Given the description of an element on the screen output the (x, y) to click on. 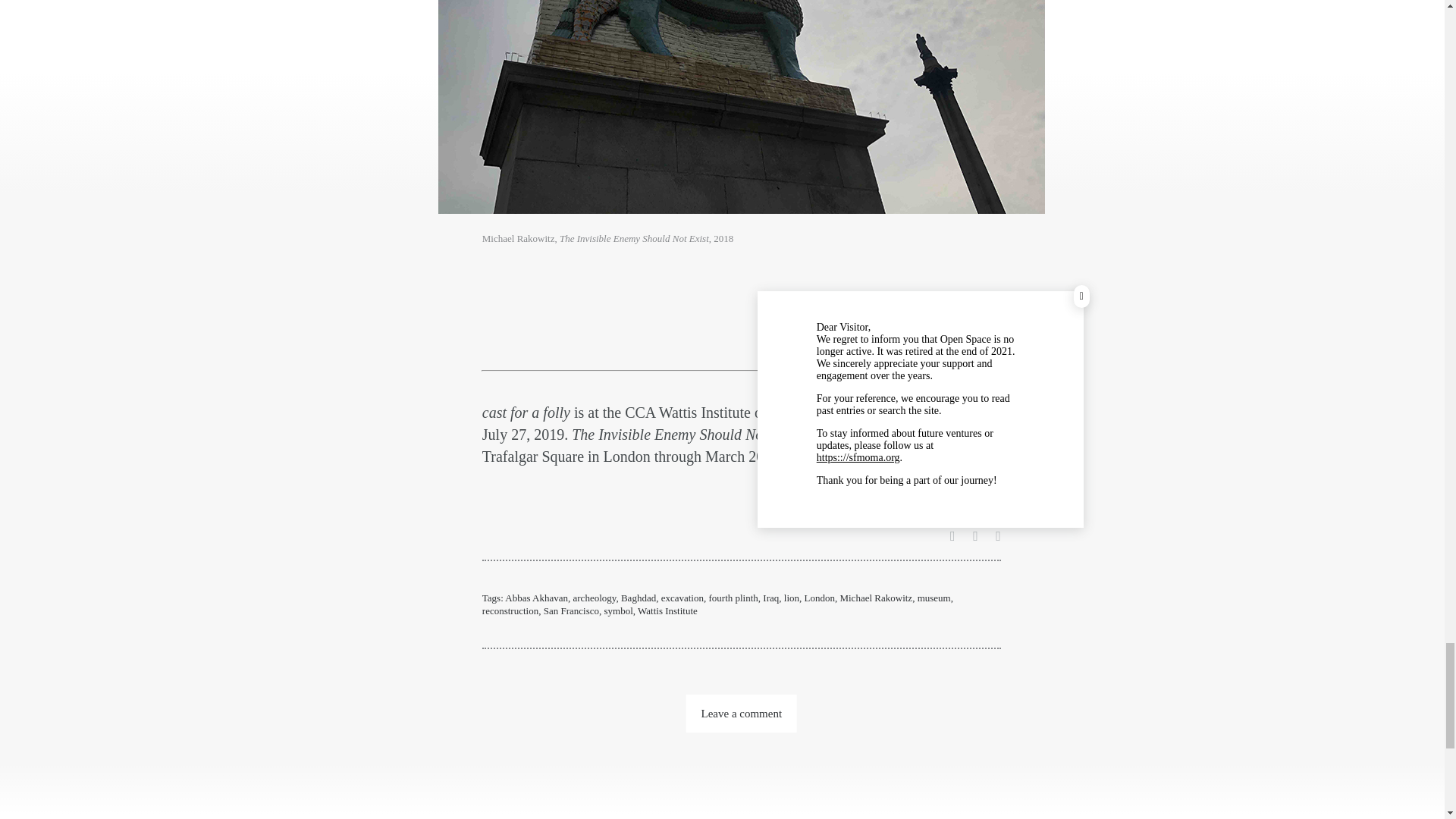
archeology (594, 597)
fourth plinth (732, 597)
lion (791, 597)
symbol (617, 610)
London (818, 597)
Iraq (770, 597)
excavation (682, 597)
Baghdad (638, 597)
San Francisco (570, 610)
museum (933, 597)
